Given the description of an element on the screen output the (x, y) to click on. 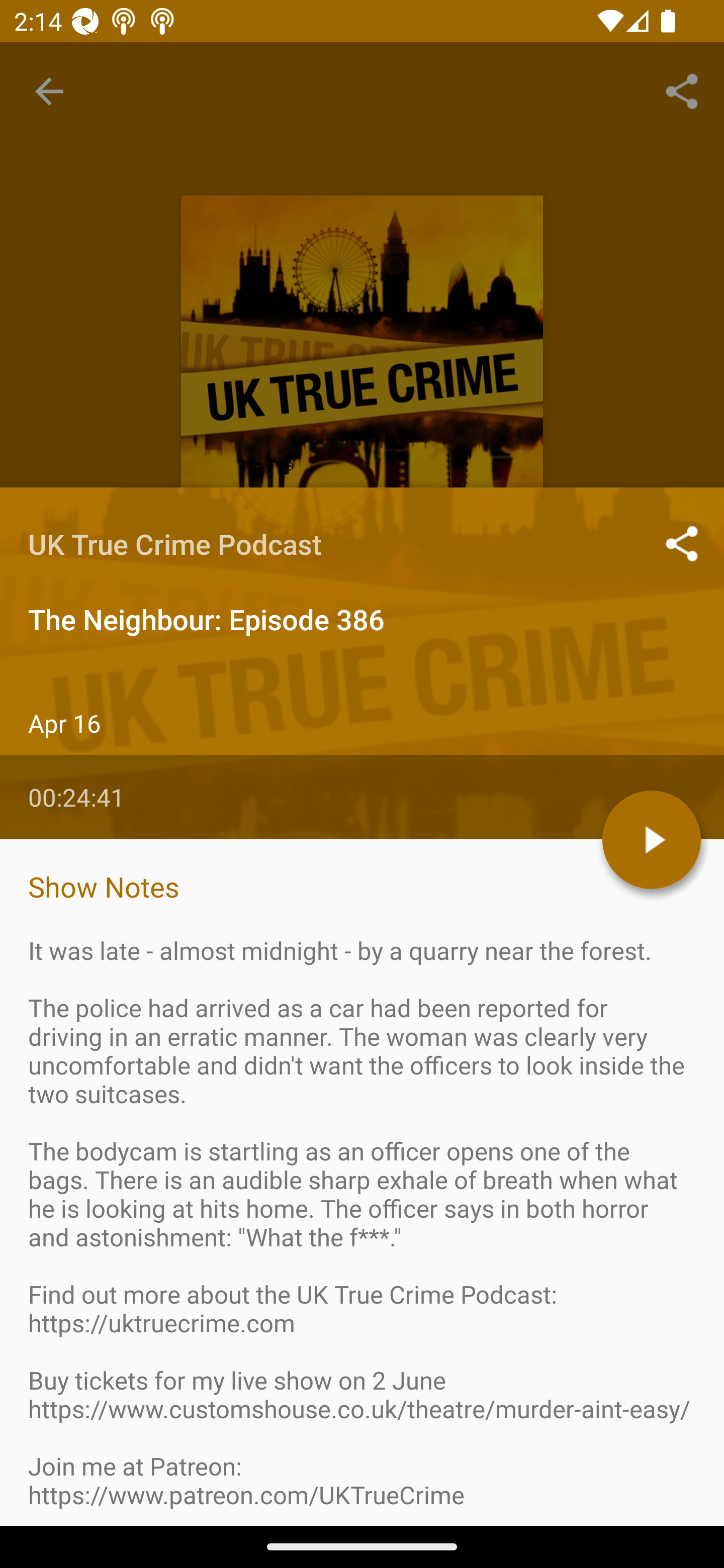
Apr 24 The Late Night Visitor: Episode 387 (362, 867)
Mar 26 The Crime Writer: Episode 383 (362, 1340)
